Given the description of an element on the screen output the (x, y) to click on. 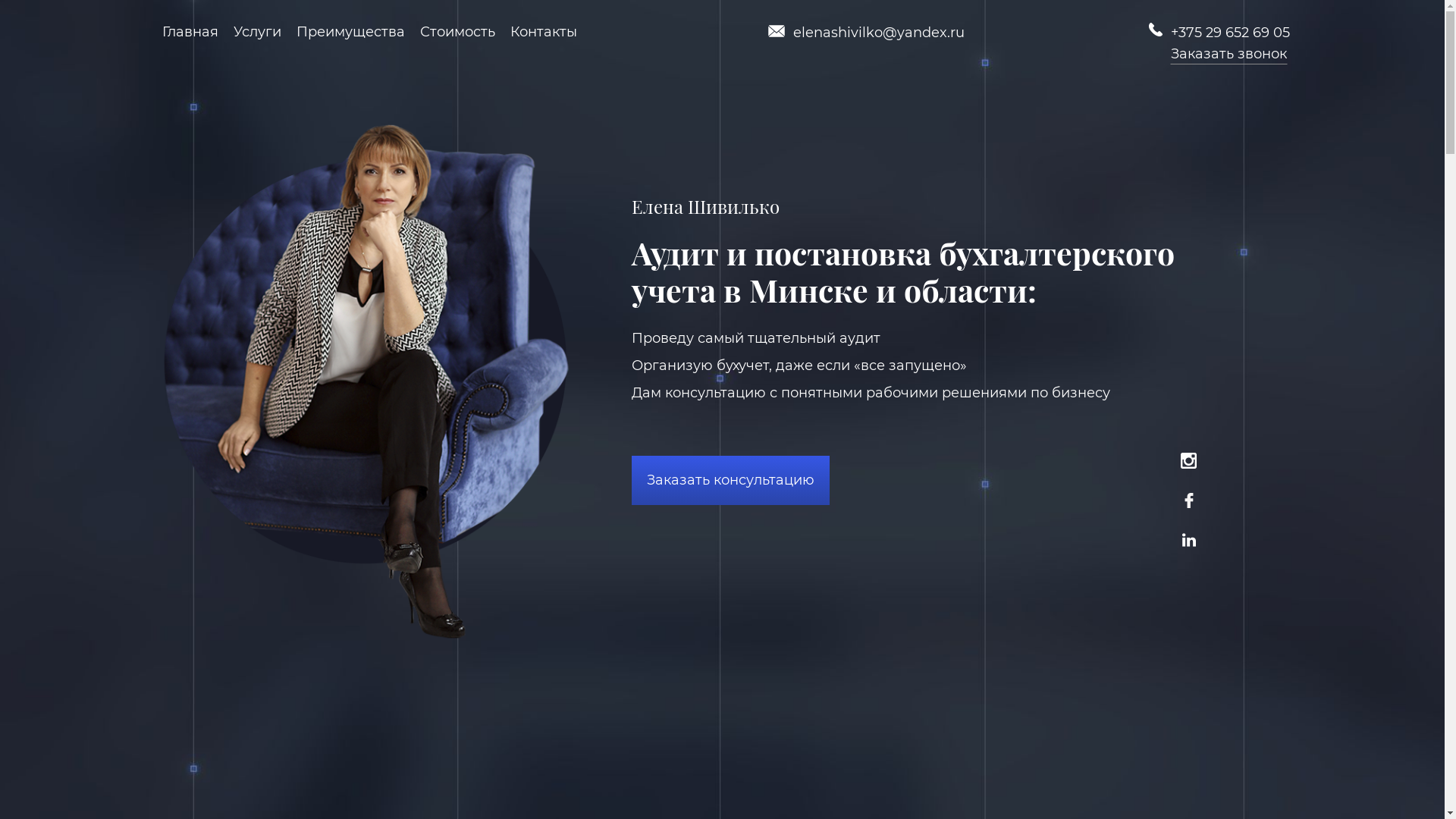
facebook Element type: text (1191, 503)
elenashivilko@yandex.ru Element type: text (877, 32)
linkedin Element type: text (1192, 542)
instagram Element type: text (1192, 463)
+375 29 652 69 05 Element type: text (1229, 32)
